Given the description of an element on the screen output the (x, y) to click on. 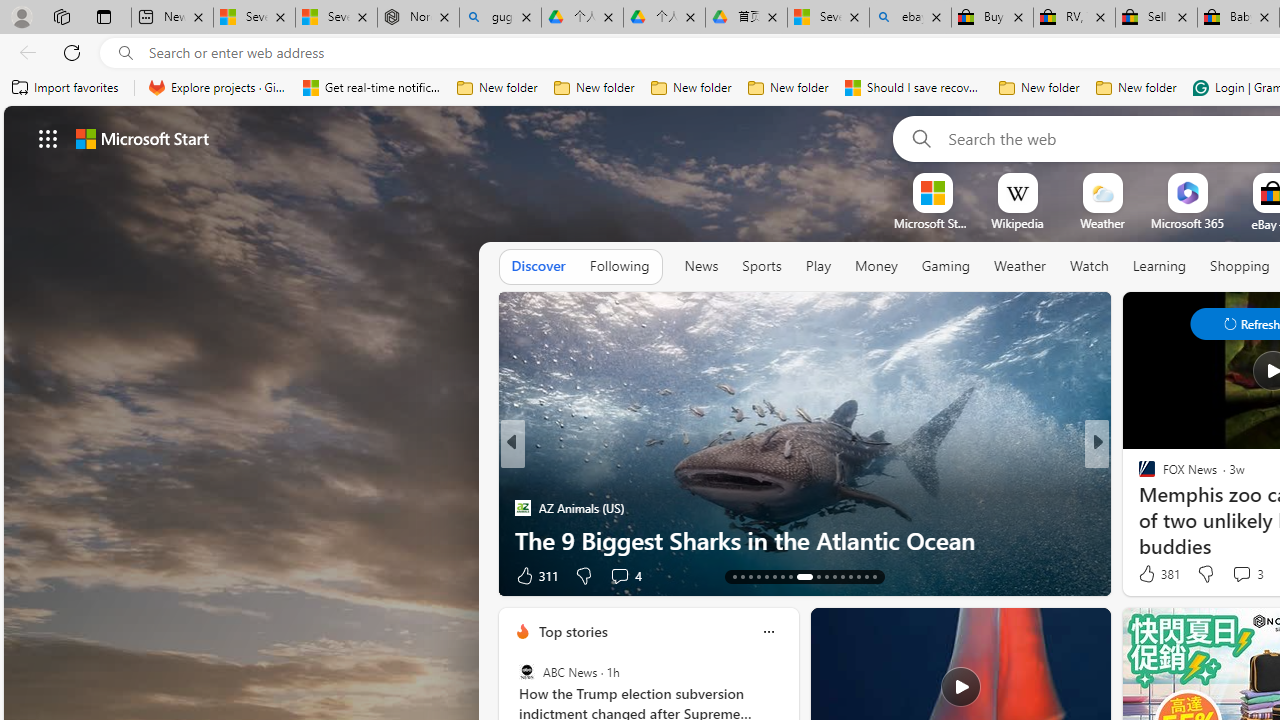
Money (876, 267)
Following (619, 267)
AutomationID: tab-26 (850, 576)
Time (1138, 475)
New folder (1136, 88)
View comments 23 Comment (11, 575)
AutomationID: tab-14 (742, 576)
Play (817, 265)
Buy Auto Parts & Accessories | eBay (992, 17)
View comments 4 Comment (11, 575)
ebay - Search (910, 17)
Class: control (47, 138)
News (701, 267)
AutomationID: tab-27 (857, 576)
